Given the description of an element on the screen output the (x, y) to click on. 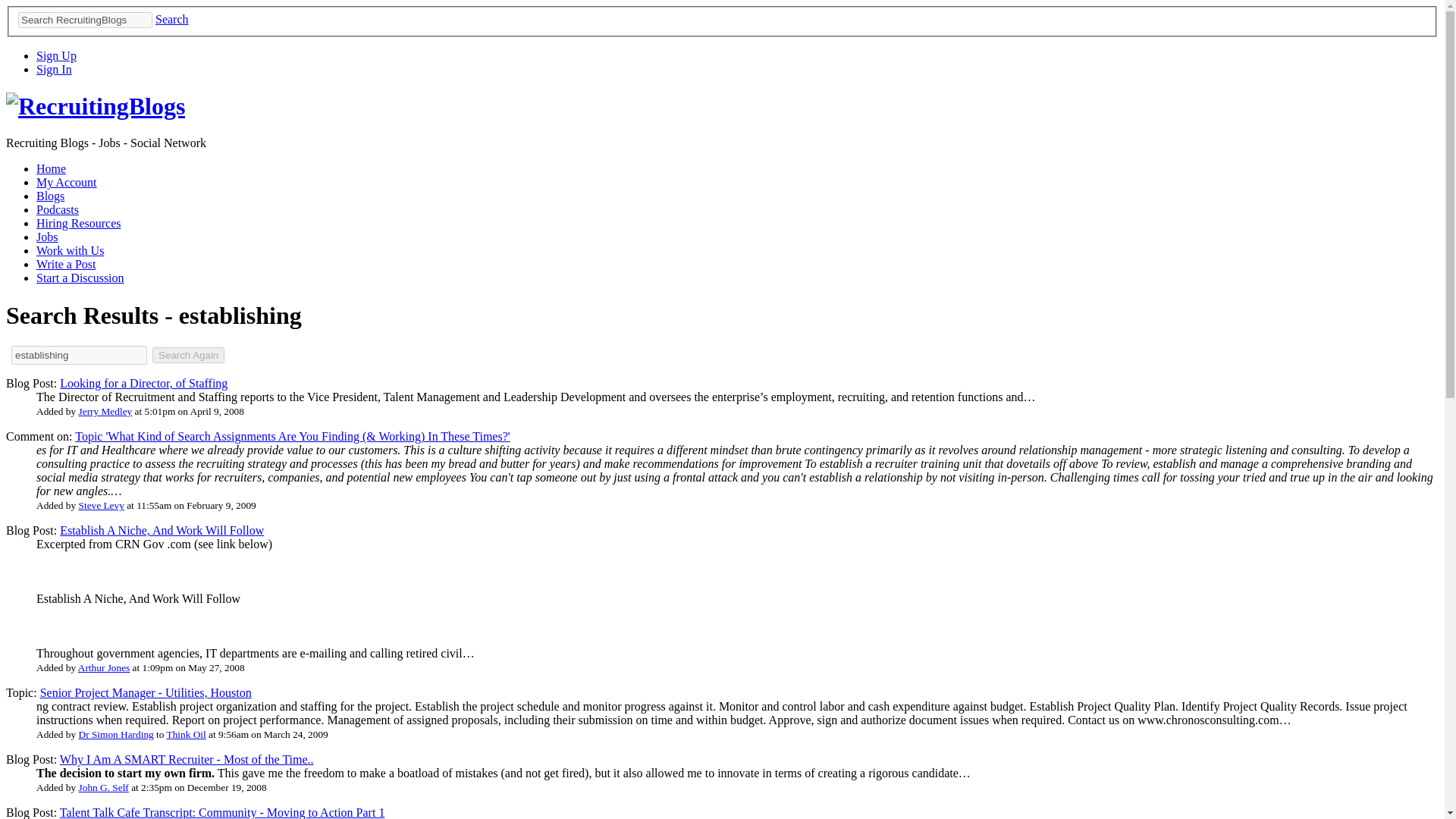
Write a Post (66, 264)
My Account (66, 182)
Podcasts (57, 209)
Home (50, 168)
Dr Simon Harding (116, 734)
Jerry Medley (105, 410)
Senior Project Manager - Utilities, Houston (145, 692)
Steve Levy (100, 505)
Hiring Resources (78, 223)
Jobs (47, 236)
Search RecruitingBlogs (84, 19)
Search Again (188, 355)
Sign Up (56, 55)
Work with Us (69, 250)
